Given the description of an element on the screen output the (x, y) to click on. 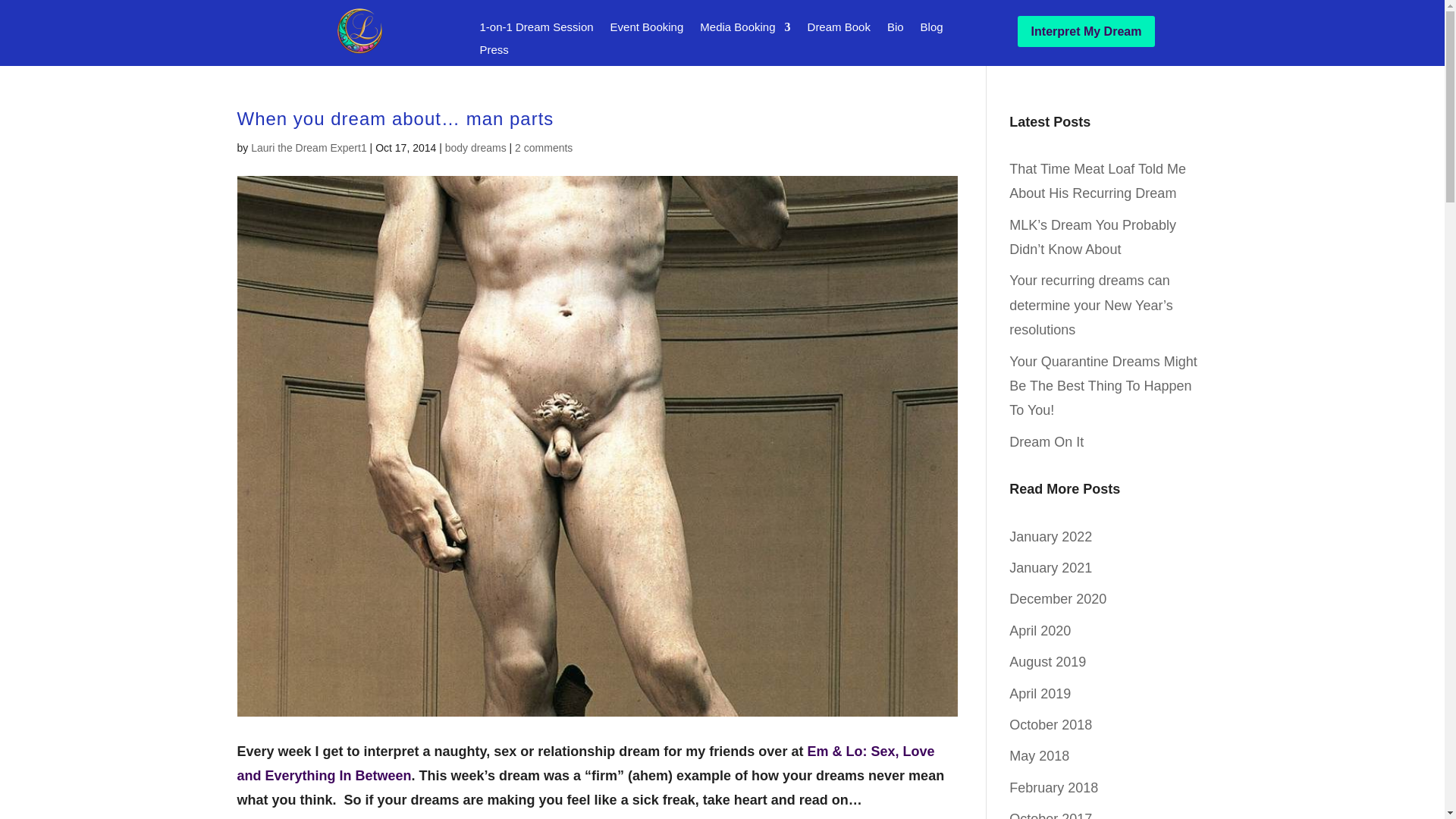
Bio (895, 30)
Event Booking (647, 30)
cropped-Dream-Site-Logo.png (357, 29)
Press (493, 53)
Media Booking (745, 30)
Interpret My Dream (1086, 30)
Posts by Lauri the Dream Expert1 (308, 146)
Dream Book (839, 30)
Blog (931, 30)
1-on-1 Dream Session (535, 30)
